Given the description of an element on the screen output the (x, y) to click on. 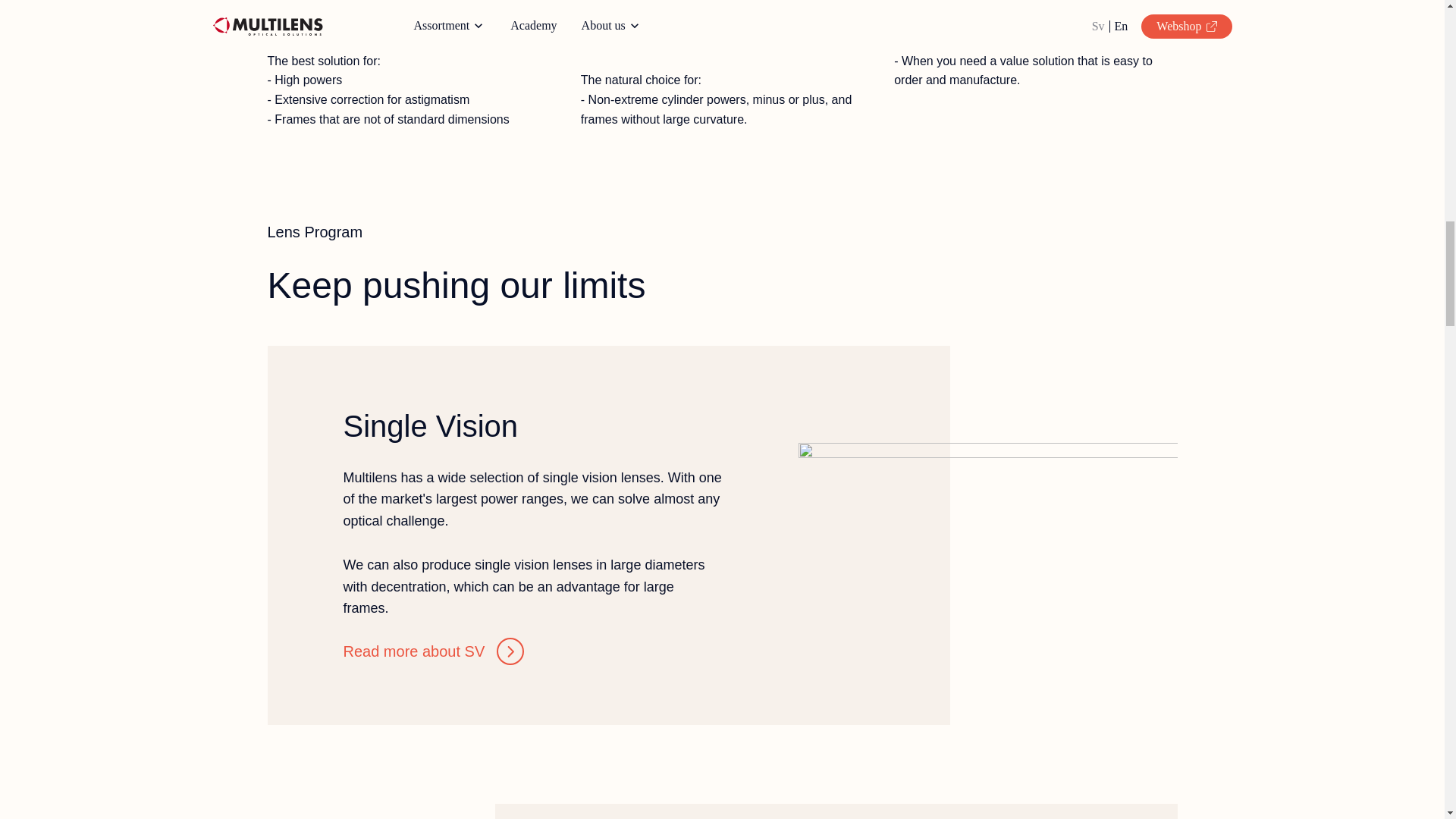
Read more about SV (433, 651)
